Given the description of an element on the screen output the (x, y) to click on. 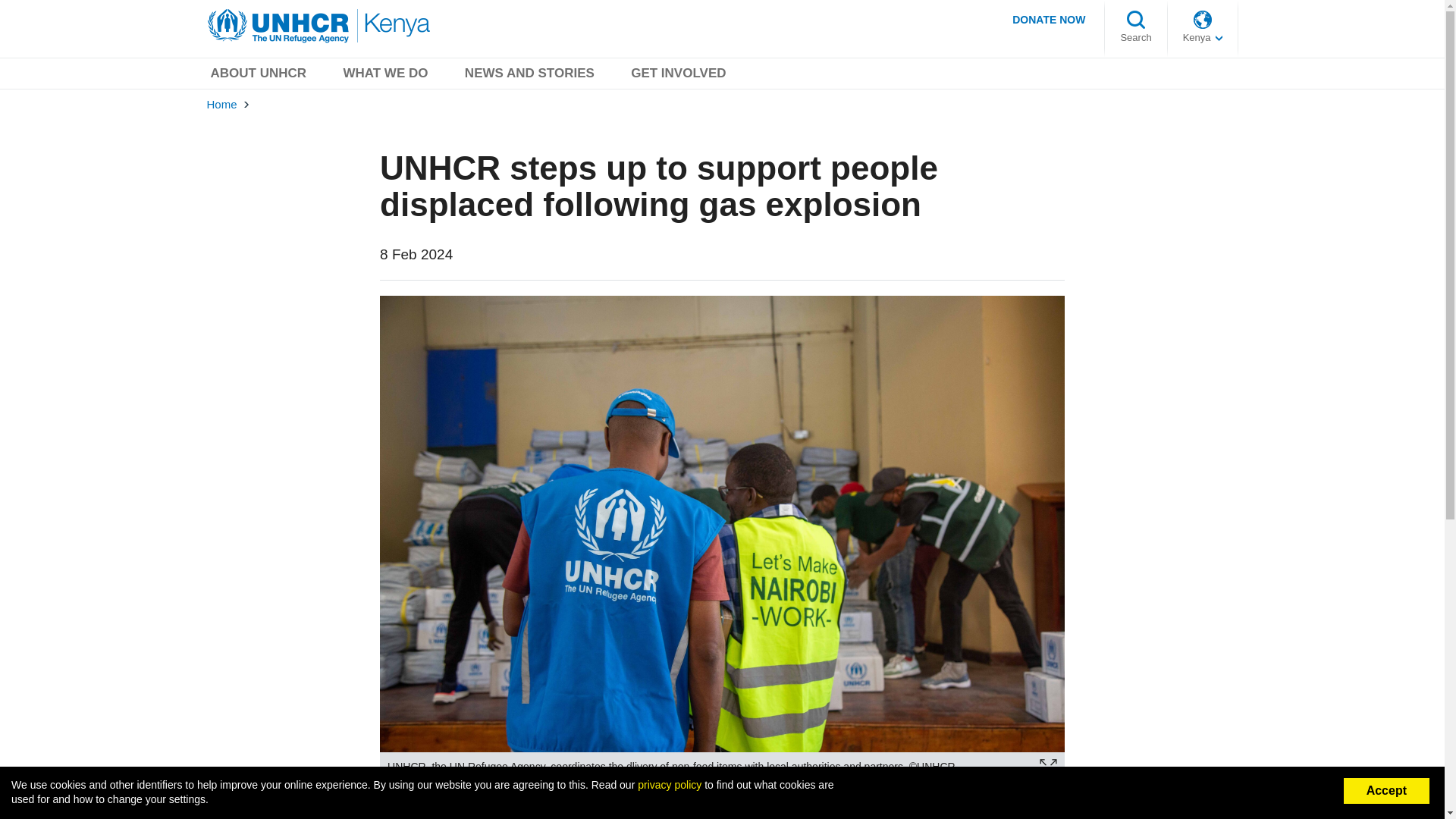
ABOUT UNHCR (258, 76)
Search (1135, 38)
Kenya (1202, 38)
Donate now (1048, 19)
DONATE NOW (1048, 19)
GET INVOLVED (678, 76)
WHAT WE DO (384, 76)
NEWS AND STORIES (529, 76)
UNHCR Kenya (319, 25)
About UNHCR (258, 76)
Search (1135, 38)
UNHCR International (1202, 38)
